Given the description of an element on the screen output the (x, y) to click on. 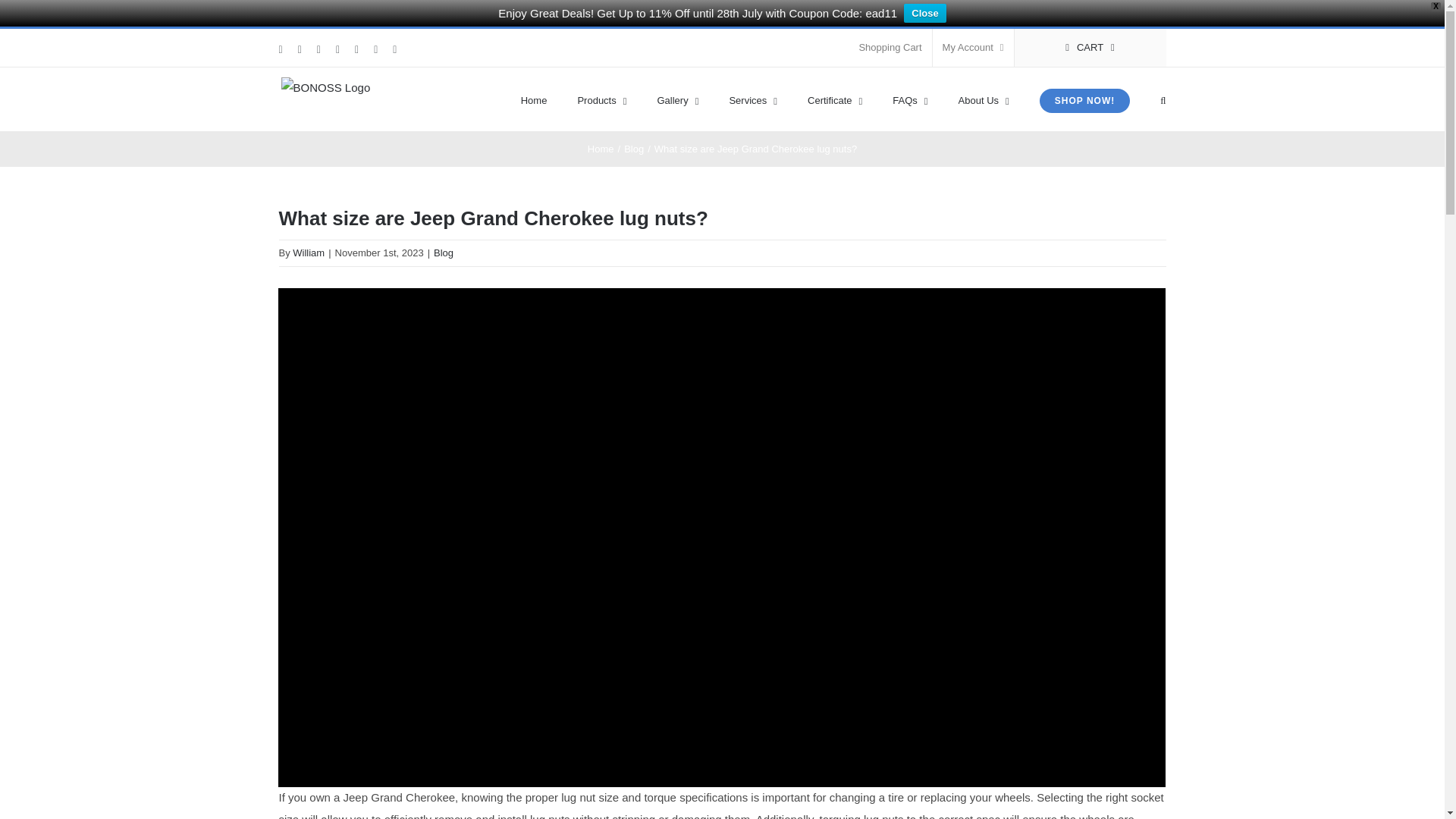
Close (924, 13)
Home (534, 99)
Certificate (834, 99)
Products (601, 99)
CART (1090, 47)
Gallery (677, 99)
